Given the description of an element on the screen output the (x, y) to click on. 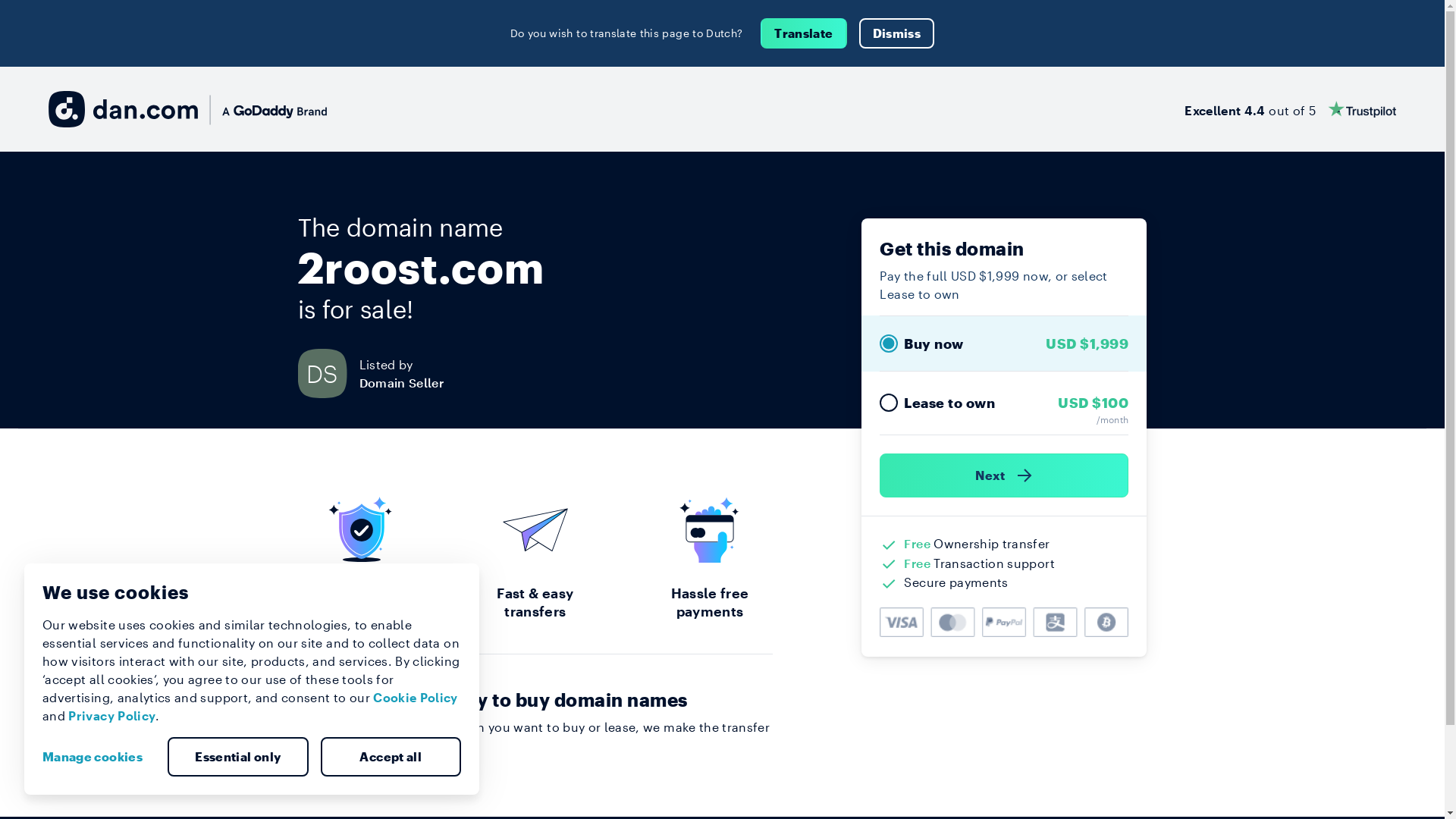
Dismiss Element type: text (896, 33)
Accept all Element type: text (390, 756)
Manage cookies Element type: text (98, 756)
Privacy Policy Element type: text (111, 715)
Cookie Policy Element type: text (415, 697)
Excellent 4.4 out of 5 Element type: text (1290, 109)
Next
) Element type: text (1003, 475)
Translate Element type: text (803, 33)
Essential only Element type: text (237, 756)
